Given the description of an element on the screen output the (x, y) to click on. 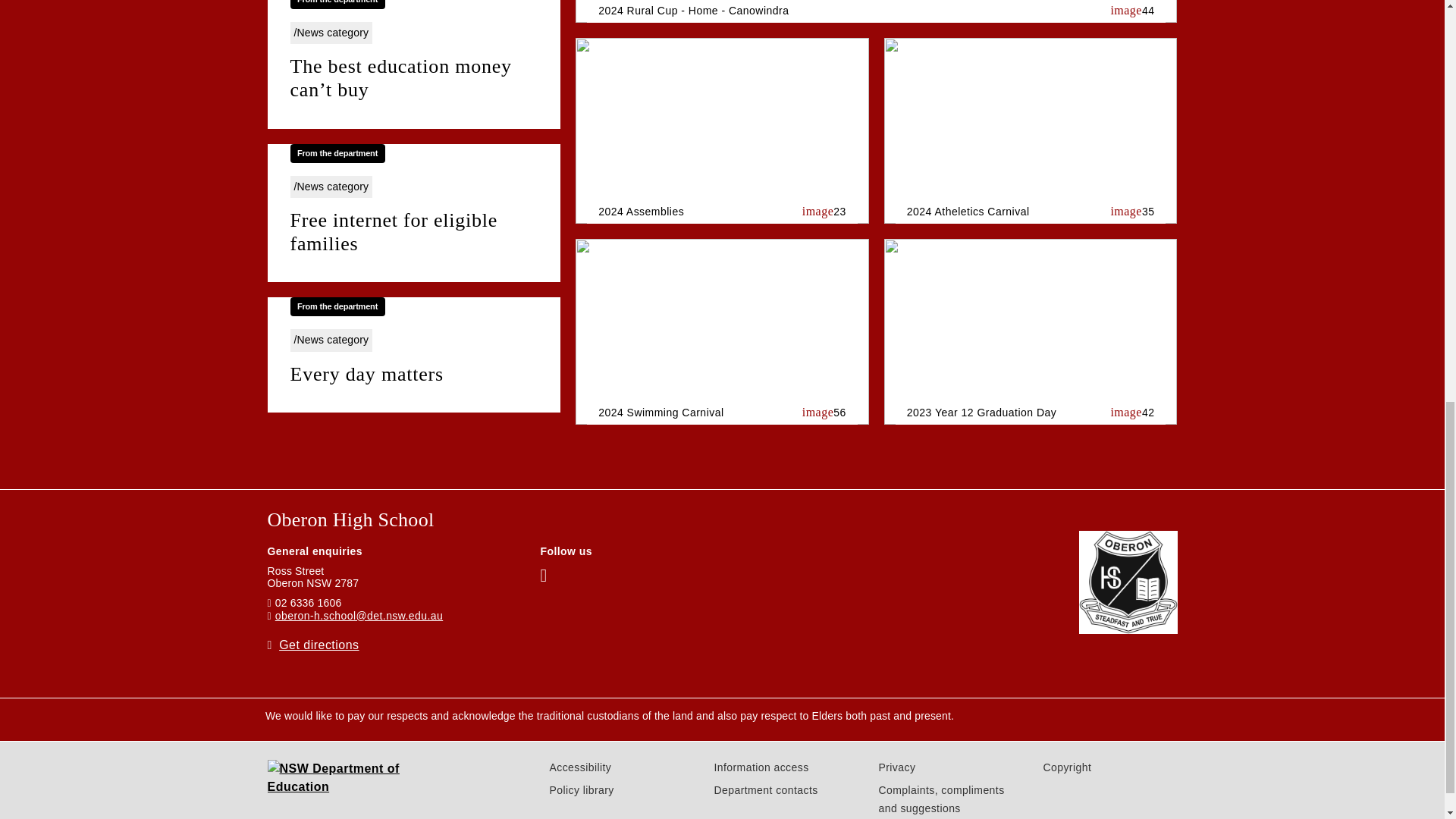
Every day matters  (413, 374)
Free internet for eligible families (413, 232)
